Given the description of an element on the screen output the (x, y) to click on. 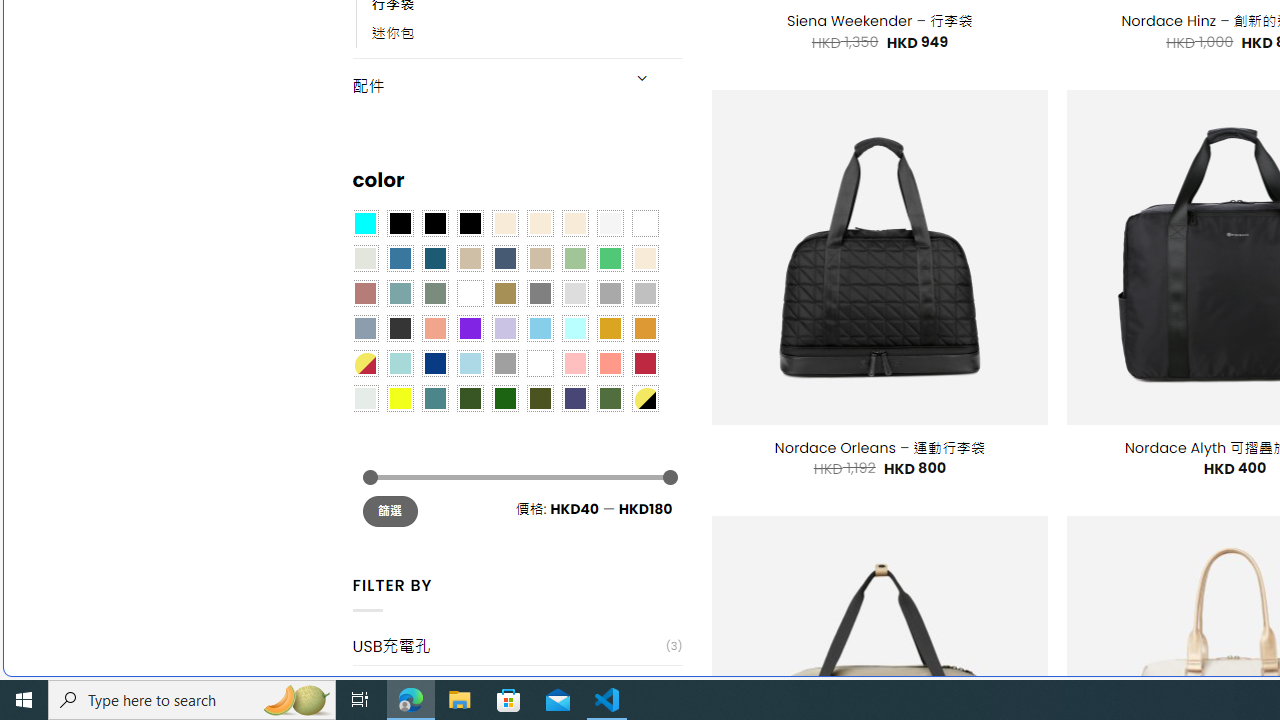
Cream (574, 223)
